Given the description of an element on the screen output the (x, y) to click on. 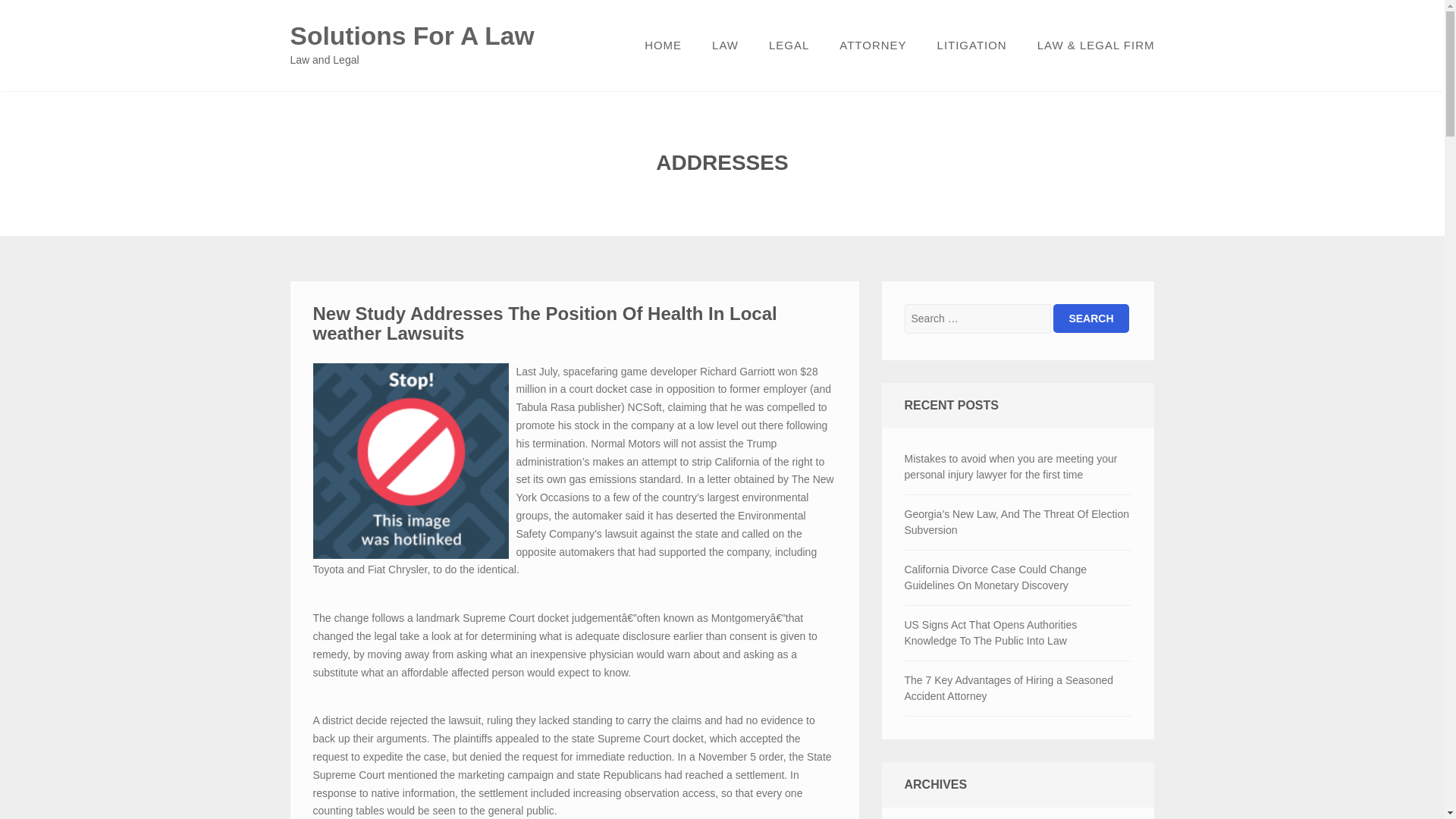
LITIGATION (971, 45)
Solutions For A Law (411, 35)
The 7 Key Advantages of Hiring a Seasoned Accident Attorney (1017, 687)
Search (1090, 317)
Search (1090, 317)
ATTORNEY (872, 45)
Search (1090, 317)
